Given the description of an element on the screen output the (x, y) to click on. 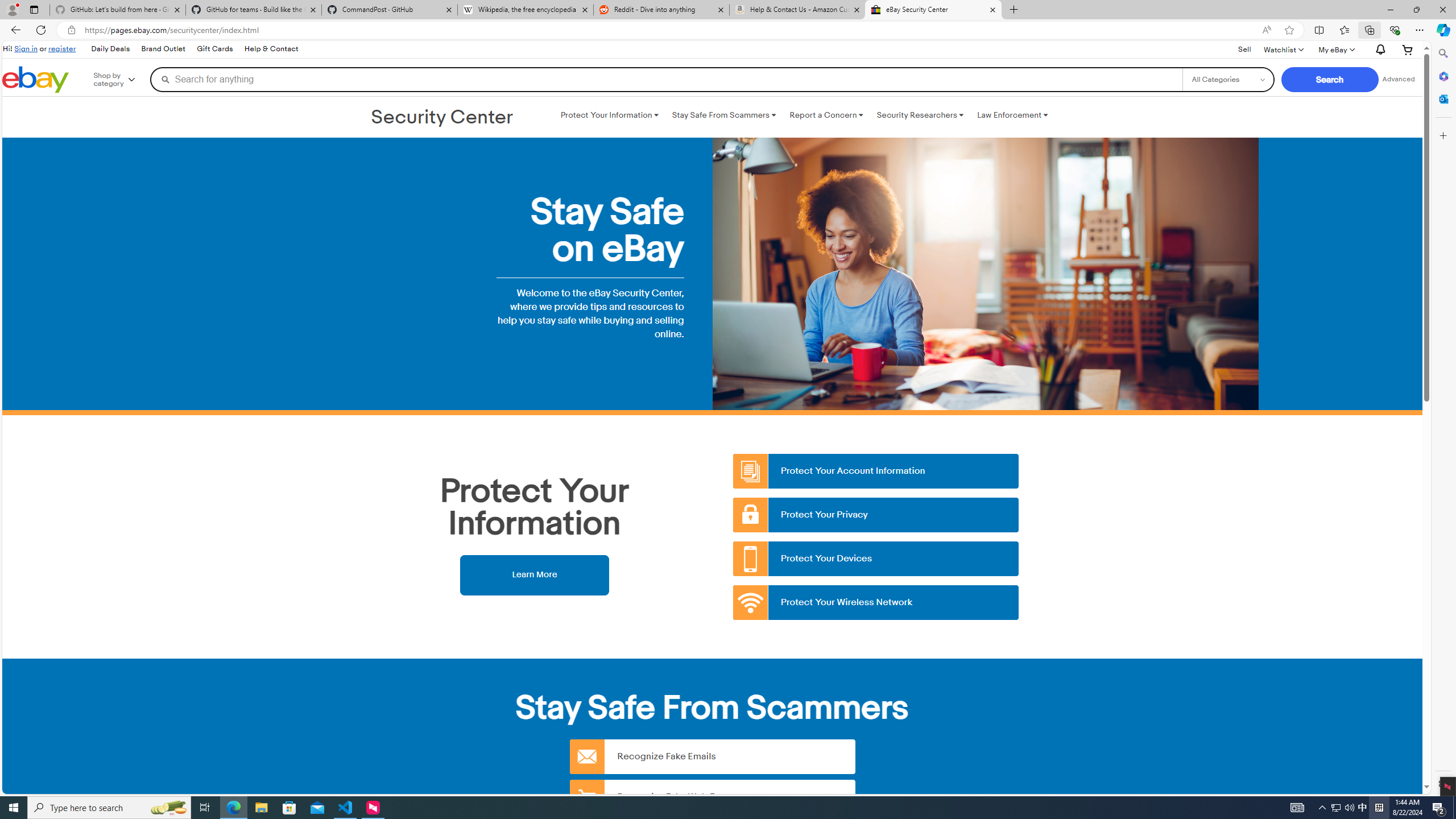
Daily Deals (109, 49)
Wikipedia, the free encyclopedia (525, 9)
Help & Contact (270, 49)
Report a Concern  (826, 115)
My eBayExpand My eBay (1335, 49)
Gift Cards (214, 49)
Brand Outlet (163, 49)
Select a category for search (1228, 78)
My eBay (1335, 49)
